Given the description of an element on the screen output the (x, y) to click on. 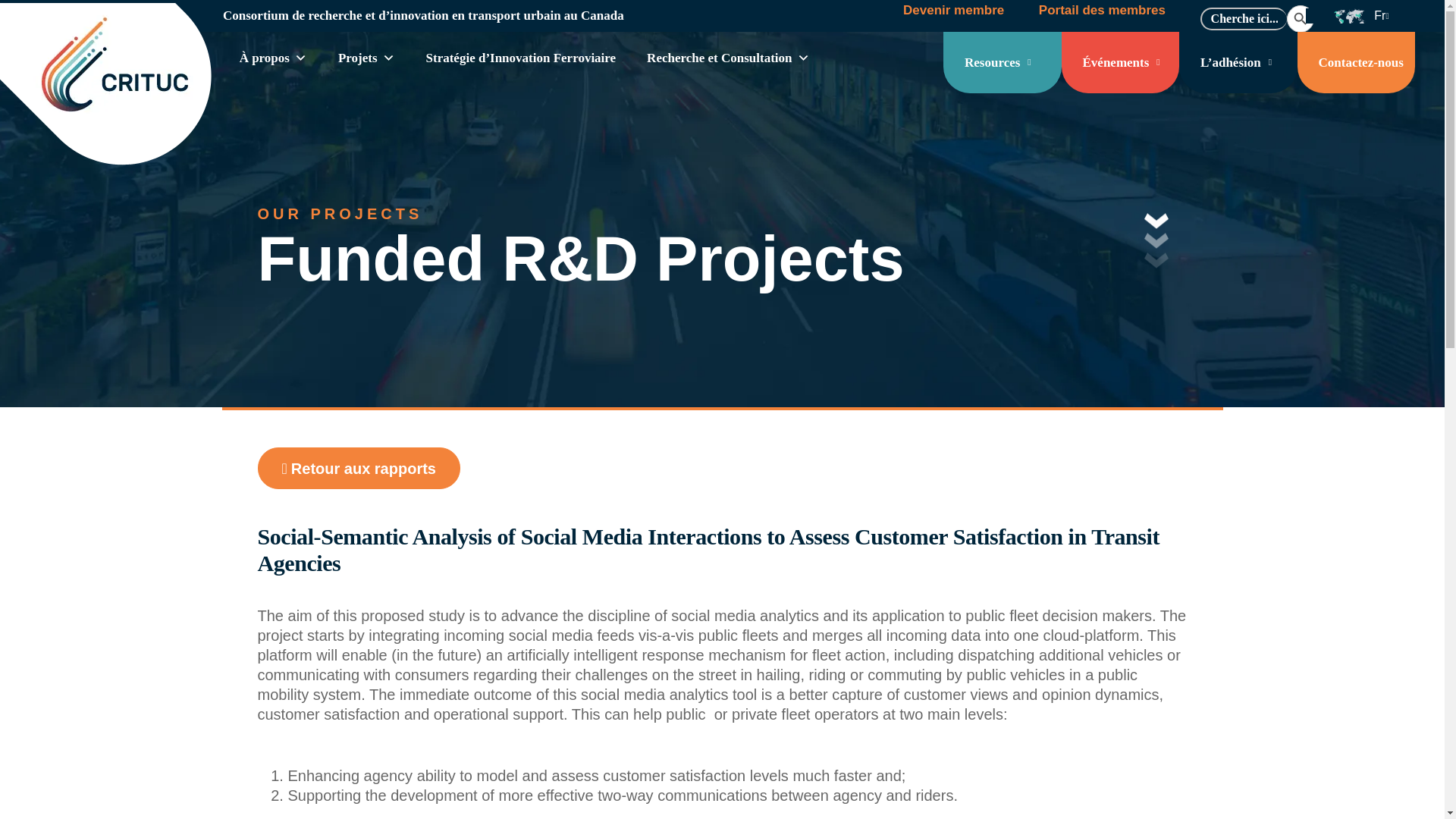
Contactez-nous (1356, 62)
Recherche et Consultation (727, 57)
Devenir membre (953, 10)
Fr (1371, 15)
Fr (1371, 15)
Resources (1002, 62)
Projets (365, 57)
Search Button (1300, 18)
ortail des membres (1106, 10)
